Given the description of an element on the screen output the (x, y) to click on. 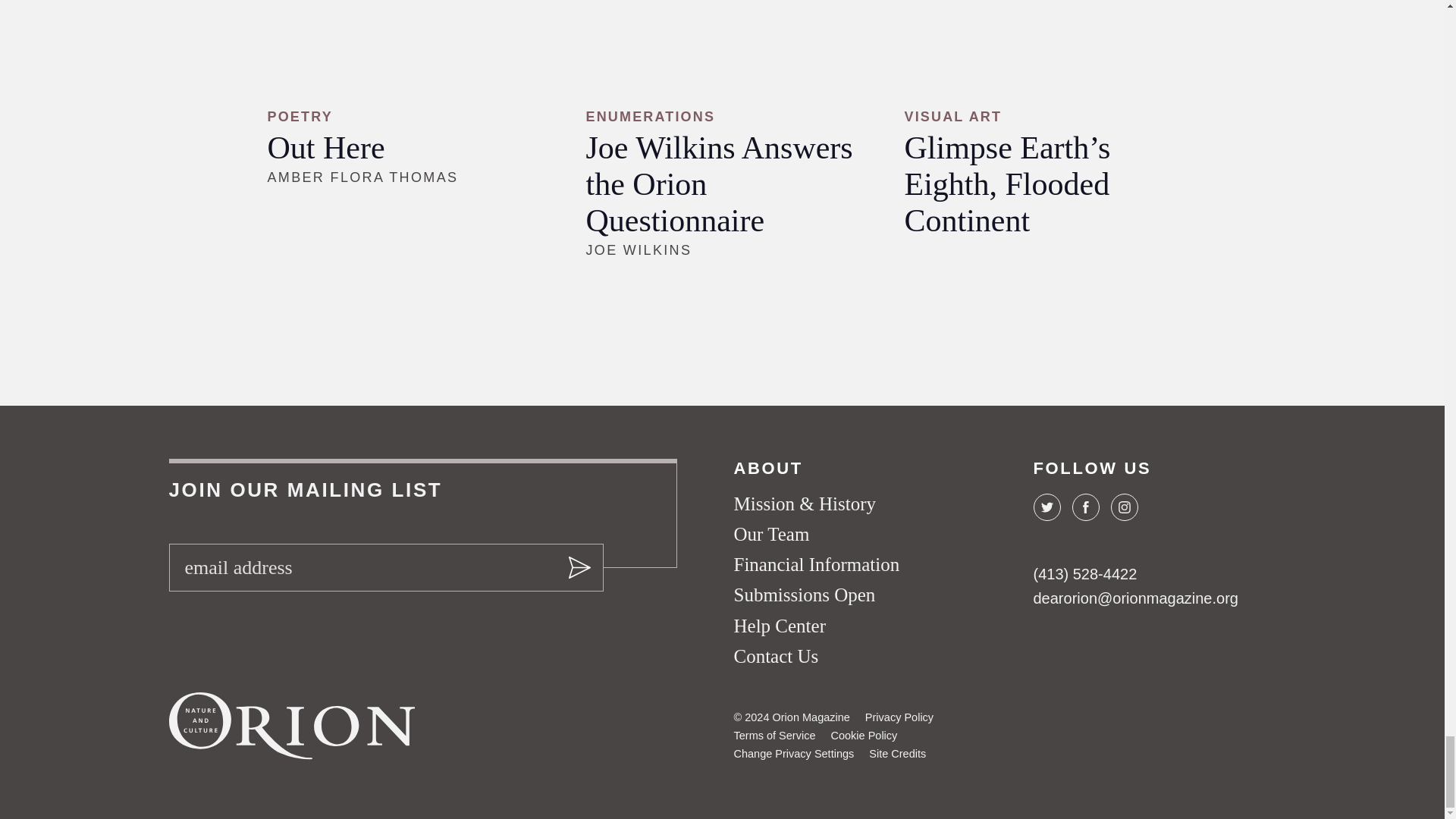
On Twitter (1045, 506)
On Facebook (1085, 506)
On Instagram (1123, 506)
